Given the description of an element on the screen output the (x, y) to click on. 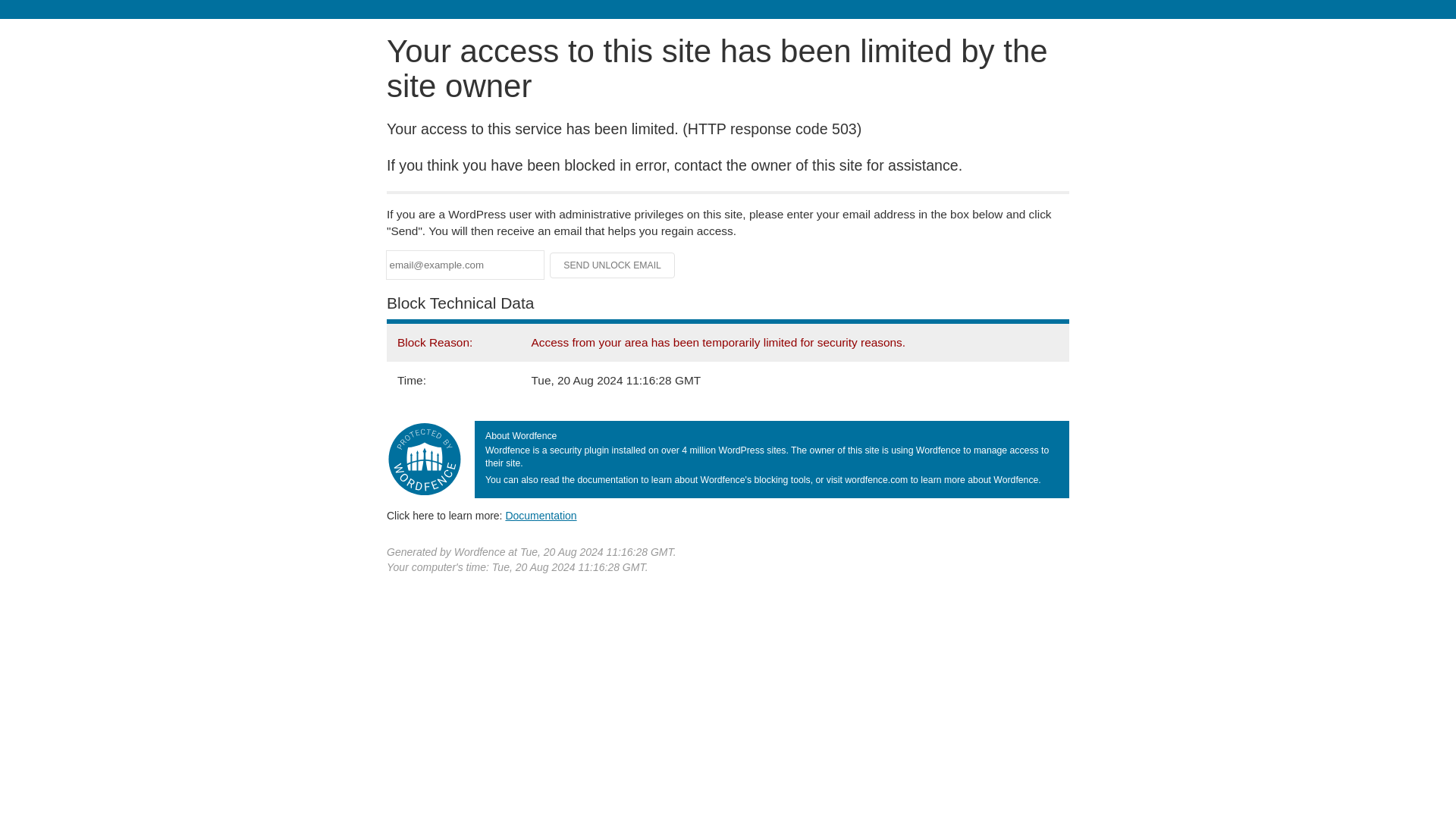
Documentation (540, 515)
Send Unlock Email (612, 265)
Send Unlock Email (612, 265)
